Given the description of an element on the screen output the (x, y) to click on. 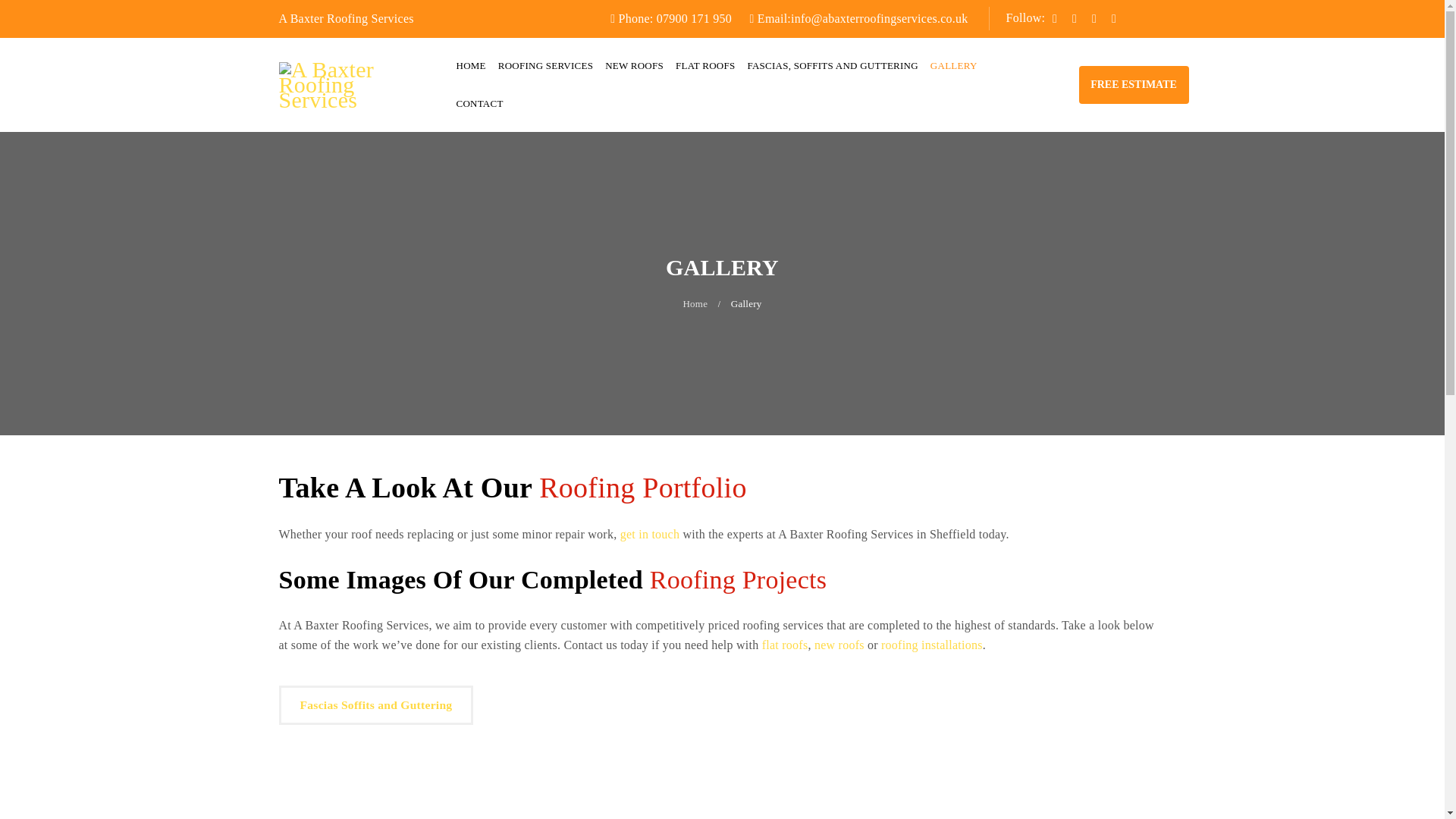
ROOFING SERVICES (544, 65)
FASCIAS, SOFFITS AND GUTTERING (831, 65)
FREE ESTIMATE (1133, 84)
GALLERY (953, 65)
flat roofs (784, 644)
new roofs (838, 644)
Home (694, 303)
FREE ESTIMATE (1133, 85)
NEW ROOFS (634, 65)
07900 171 950 (694, 18)
CONTACT (480, 103)
FLAT ROOFS (705, 65)
roofing installations (931, 644)
get in touch (649, 533)
Fascias Soffits and Guttering (376, 704)
